Given the description of an element on the screen output the (x, y) to click on. 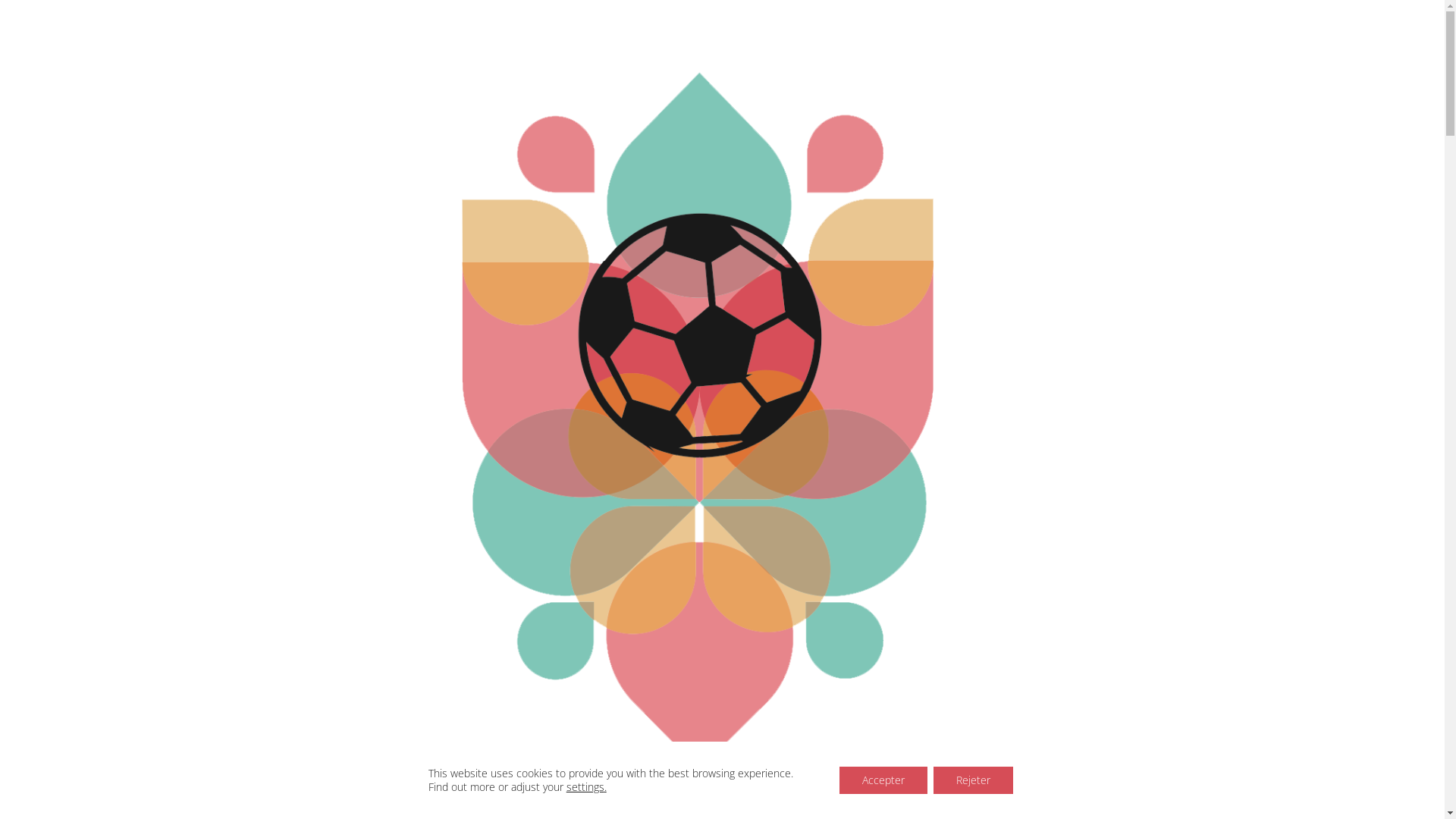
Accepter Element type: text (883, 779)
Rejeter Element type: text (973, 779)
settings Element type: text (585, 786)
